Given the description of an element on the screen output the (x, y) to click on. 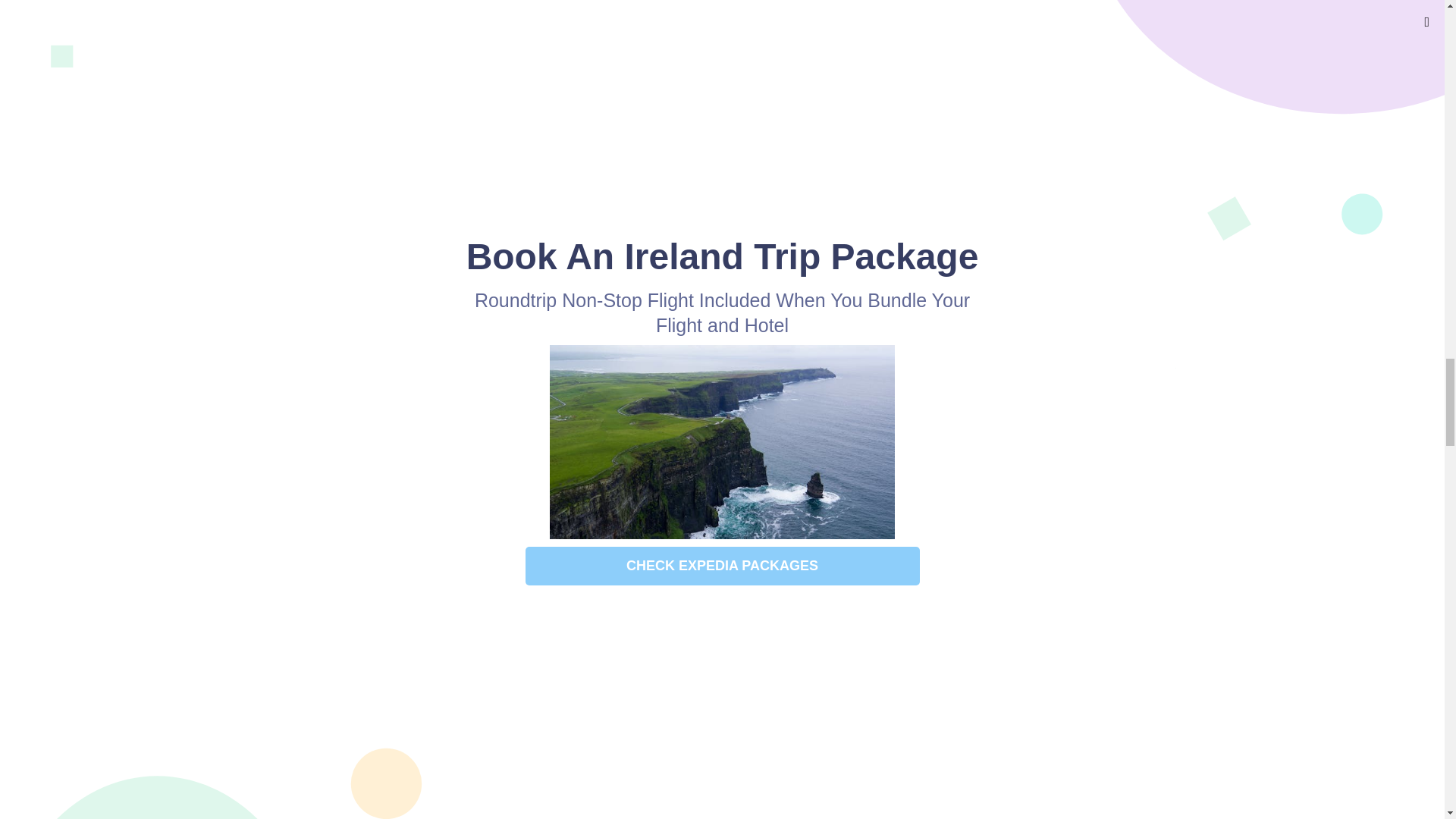
spiritual significance (645, 2)
